Given the description of an element on the screen output the (x, y) to click on. 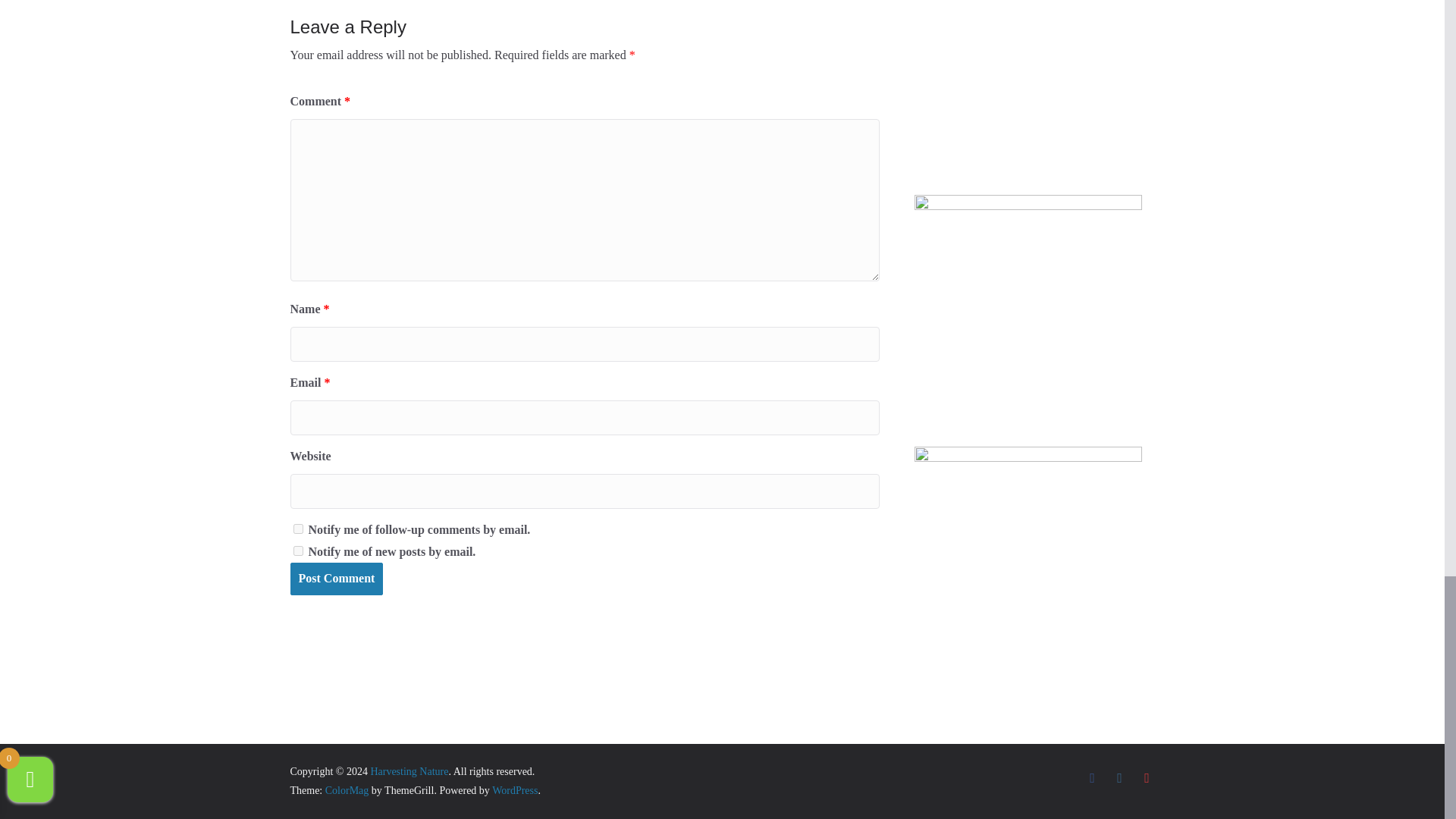
subscribe (297, 528)
subscribe (297, 551)
Post Comment (335, 578)
